Given the description of an element on the screen output the (x, y) to click on. 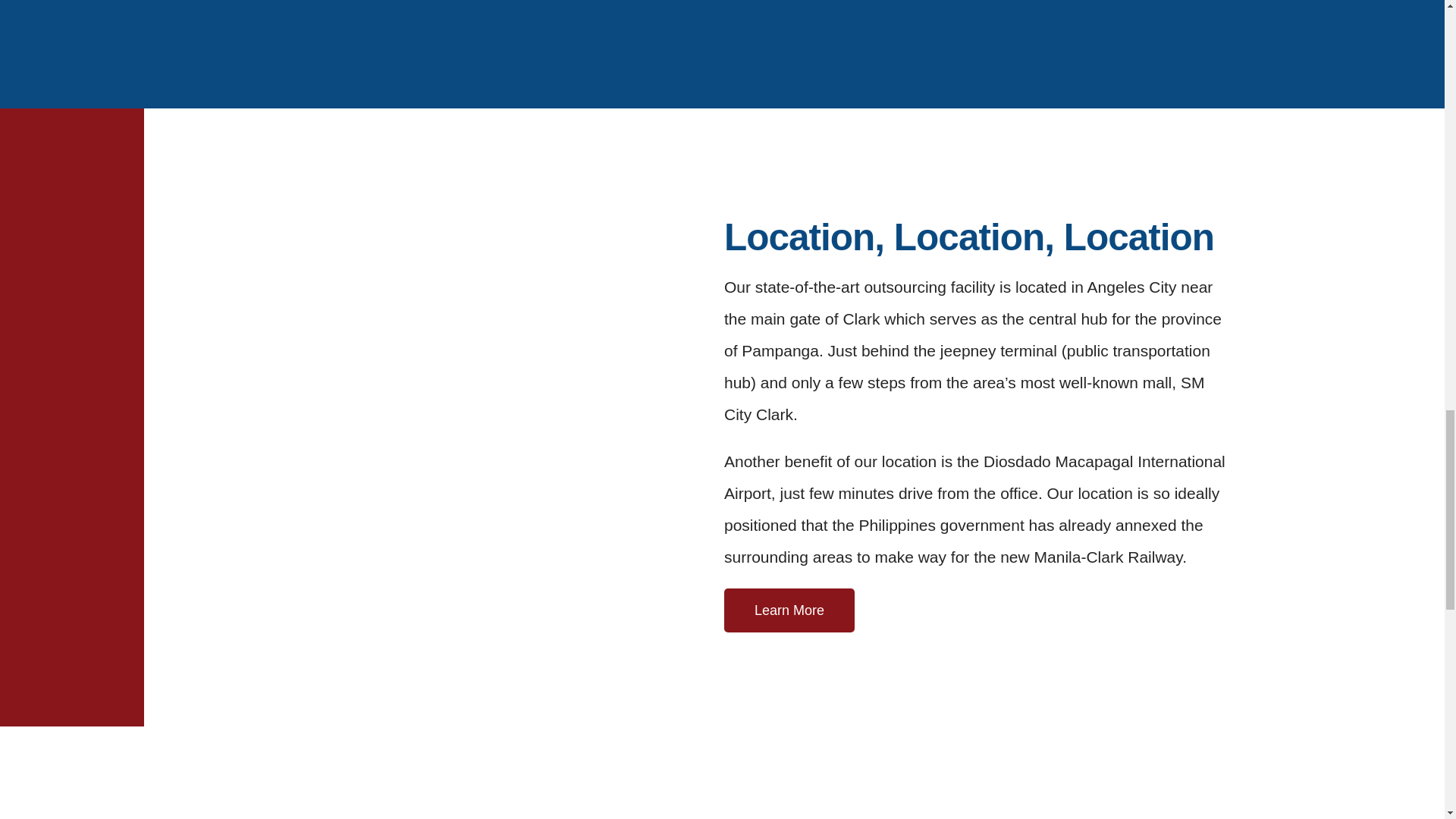
Learn More (788, 610)
